Given the description of an element on the screen output the (x, y) to click on. 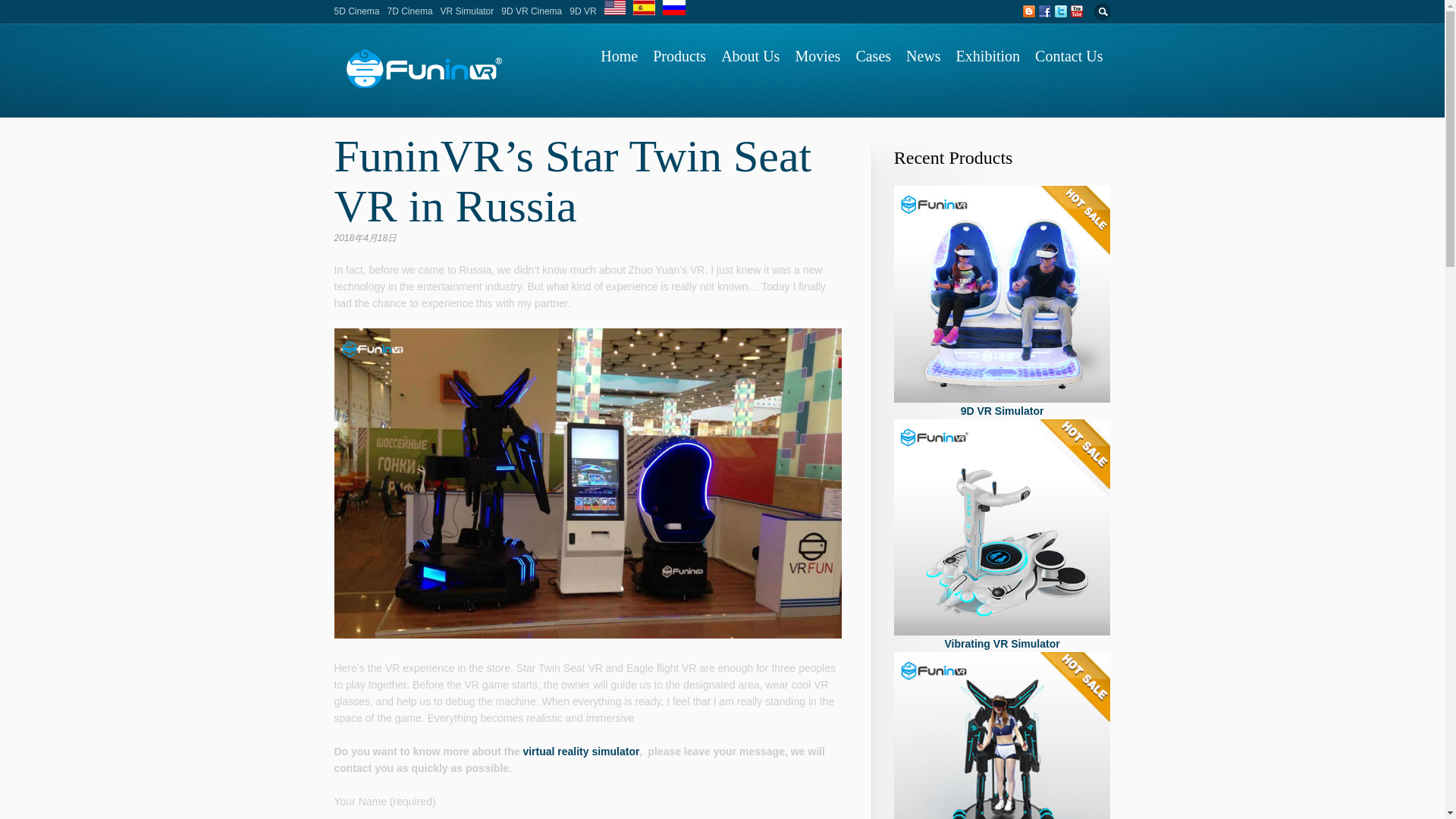
Blog (432, 98)
5D Cinema (355, 10)
9D VR Simulator (1001, 293)
Home (402, 98)
Exhibition (988, 56)
VR Simulator (468, 10)
Home (618, 56)
News (923, 56)
Products (679, 56)
9D VR (1001, 735)
Contact Us (1068, 56)
9D VR (582, 10)
9D VR Cinema (531, 10)
Movies (817, 56)
Go back to the homepage (422, 85)
